Given the description of an element on the screen output the (x, y) to click on. 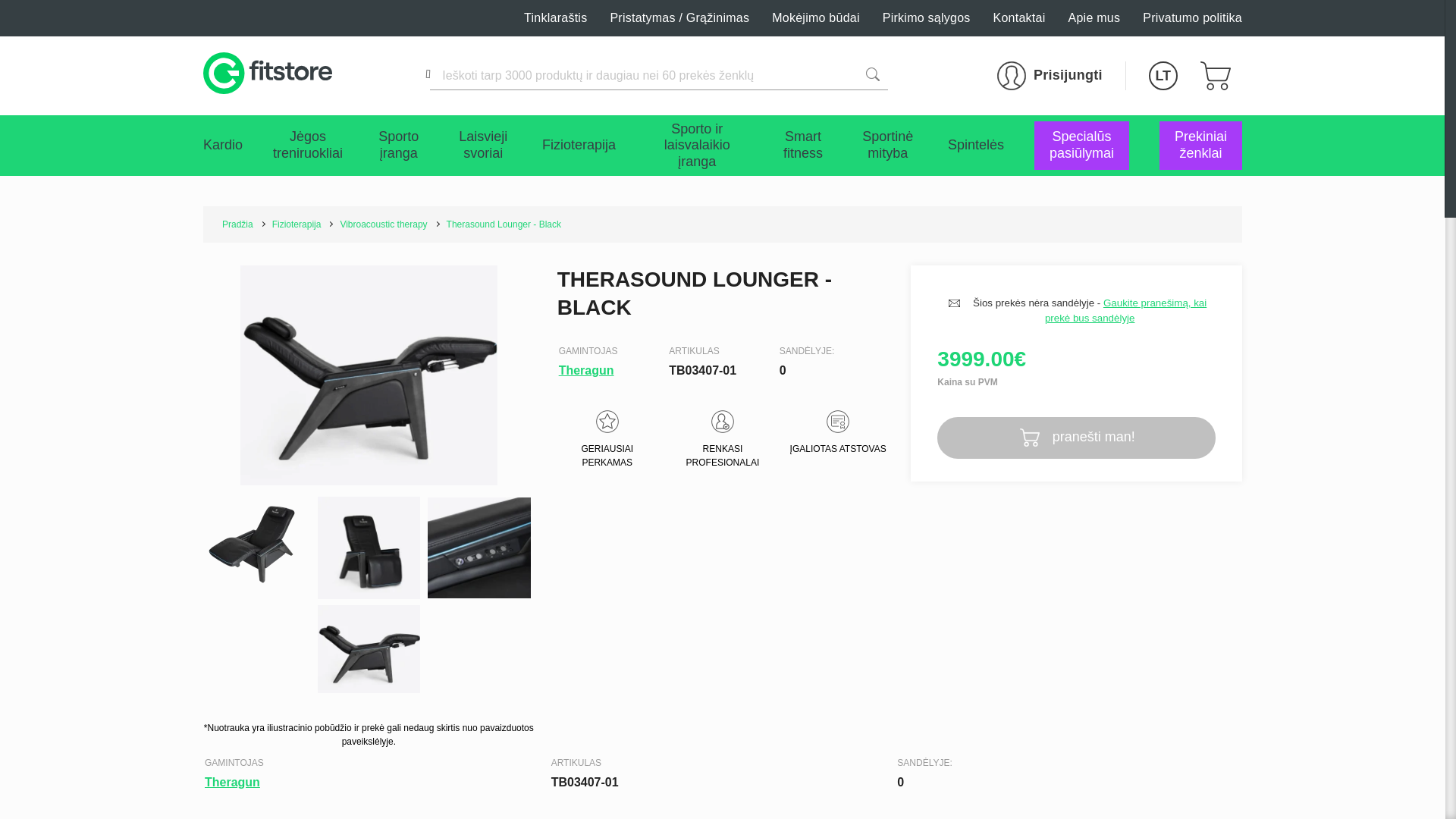
Lithuanian (1162, 75)
Privatumo politika (1191, 17)
Kardio (223, 145)
LT (1162, 75)
Prisijungti (1049, 75)
Apie mus (1094, 17)
Privatumo politika (1191, 17)
Prisijungti (1049, 75)
Apie mus (1094, 17)
Kontaktai (1018, 17)
Fitstore Lithuania (267, 75)
Kontaktai (1018, 17)
